Given the description of an element on the screen output the (x, y) to click on. 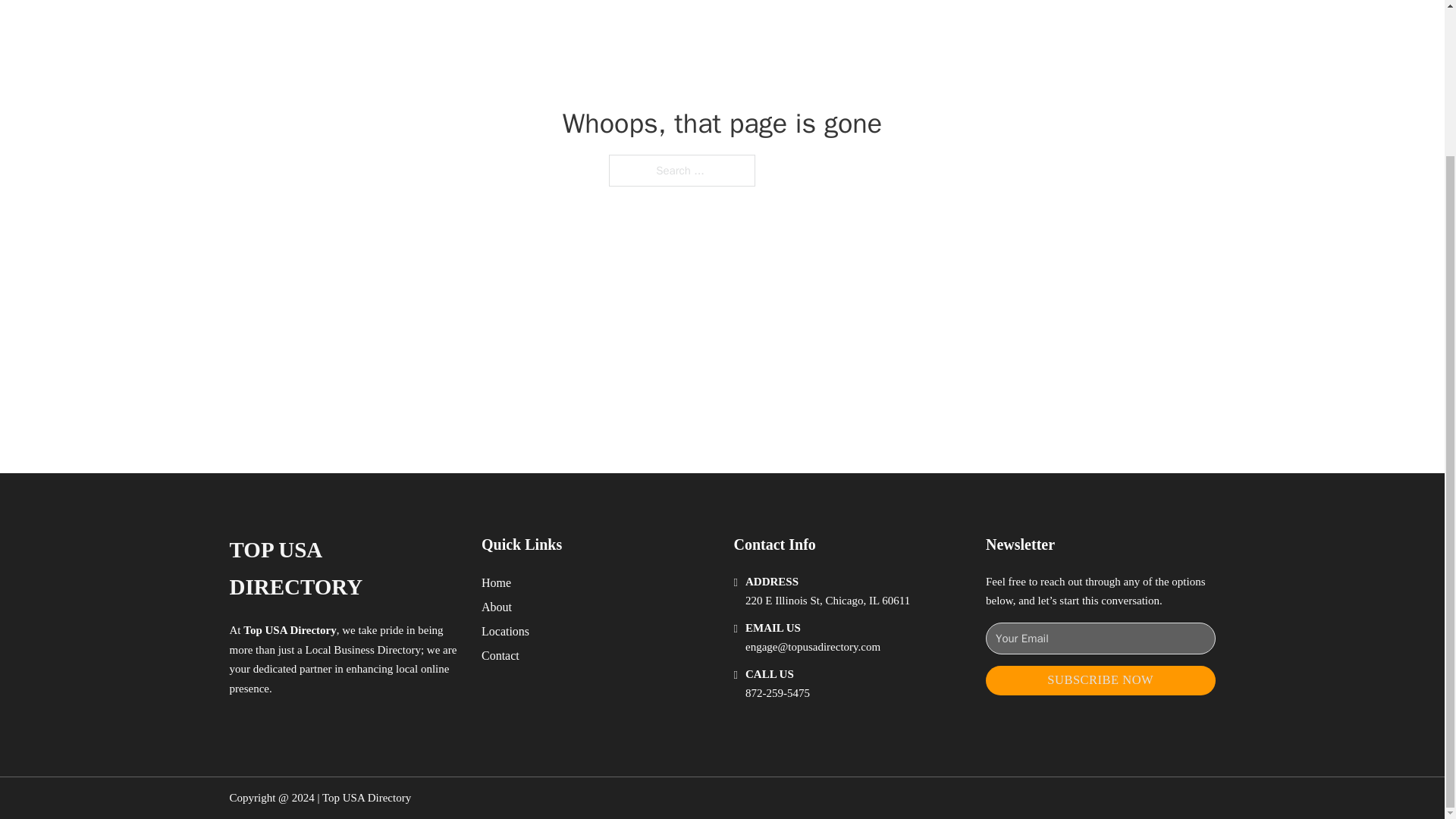
Home (496, 582)
Contact (500, 655)
TOP USA DIRECTORY (343, 568)
Locations (505, 630)
SUBSCRIBE NOW (1100, 680)
872-259-5475 (777, 693)
About (496, 607)
